Given the description of an element on the screen output the (x, y) to click on. 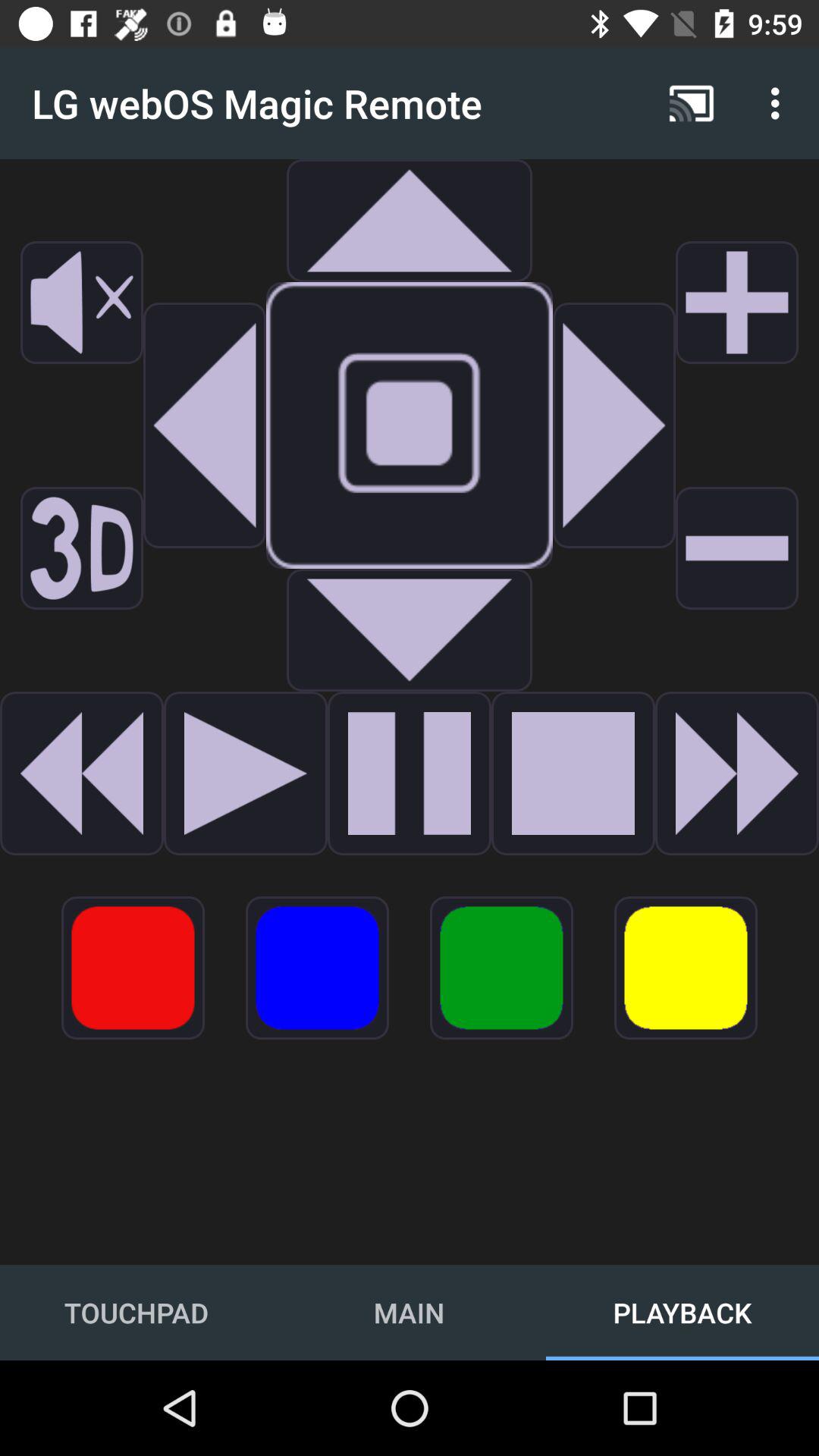
3d option (81, 547)
